Given the description of an element on the screen output the (x, y) to click on. 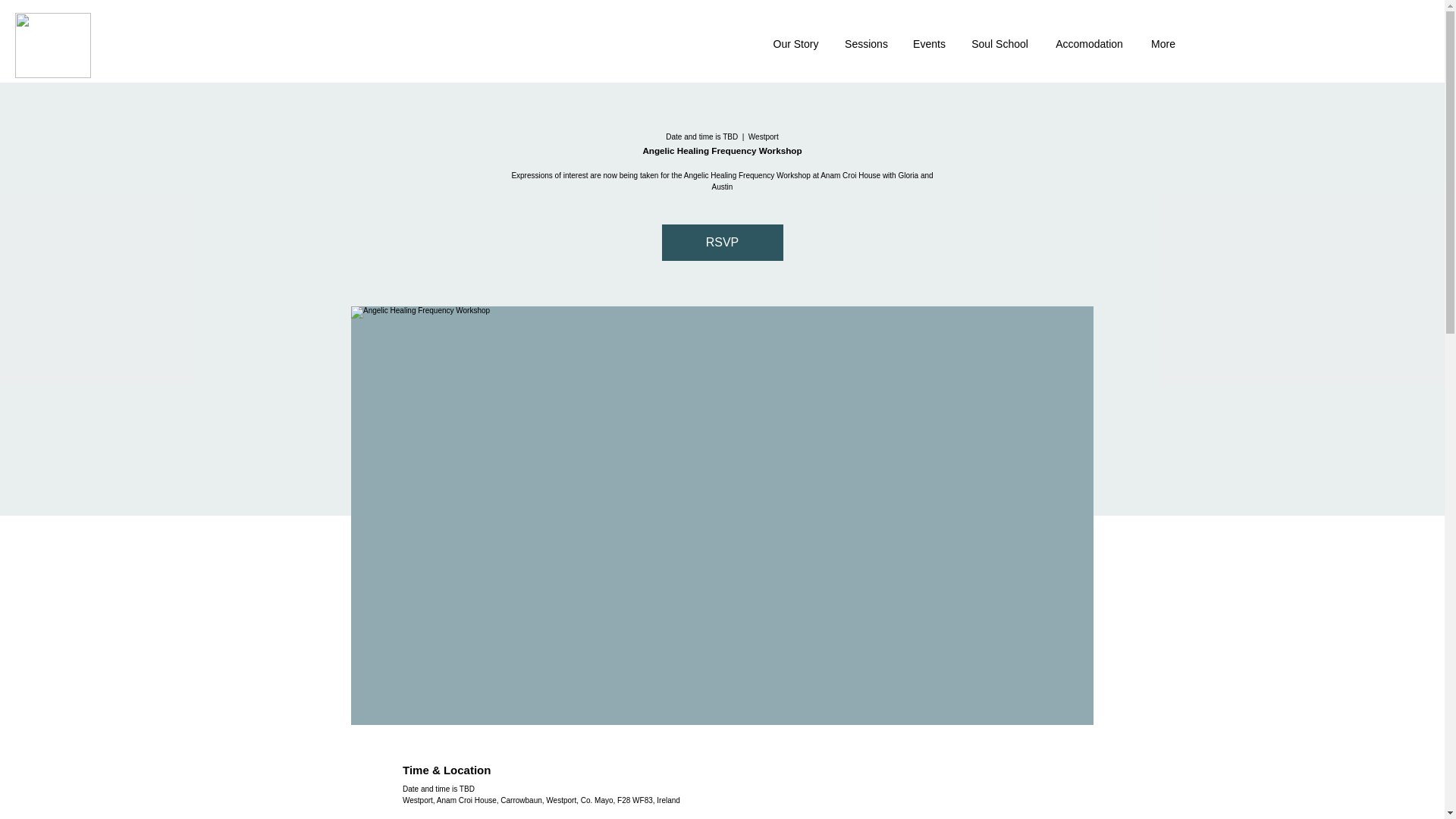
Our Story (795, 44)
Accomodation (1089, 44)
Events (928, 44)
RSVP (722, 242)
Sessions (865, 44)
Anam Croi House PNG.png (52, 45)
